Given the description of an element on the screen output the (x, y) to click on. 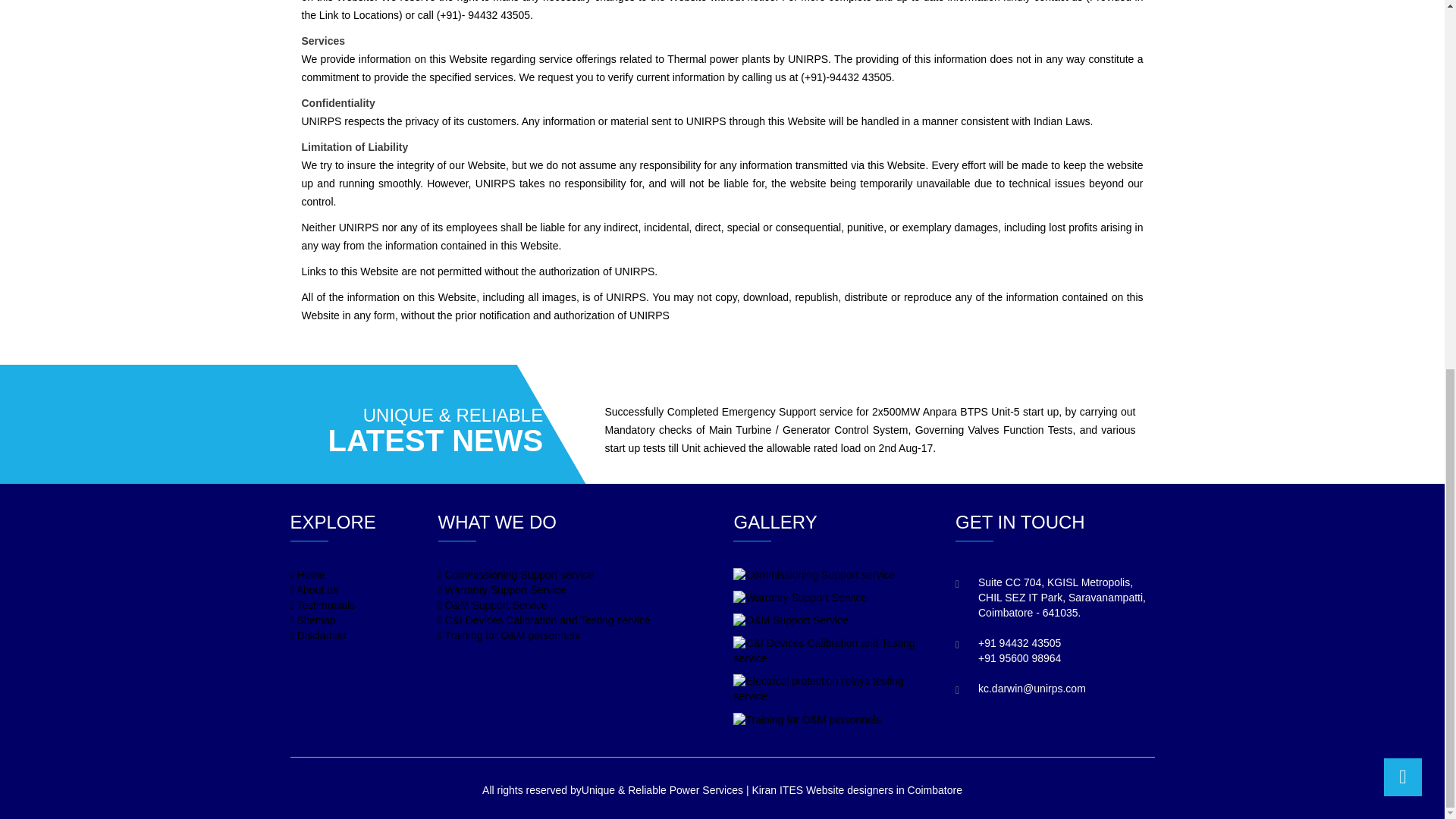
Home (306, 574)
Testimonials (322, 604)
Commissioning Support service (516, 574)
Warranty Support Service (502, 589)
Disclamier (317, 635)
Power Plant Warranty Support Service (799, 598)
About us (313, 589)
Sitemap (311, 620)
Power Plant Commissioning Support service (814, 575)
Power Plant Electrical protection relays testing service (830, 689)
